Given the description of an element on the screen output the (x, y) to click on. 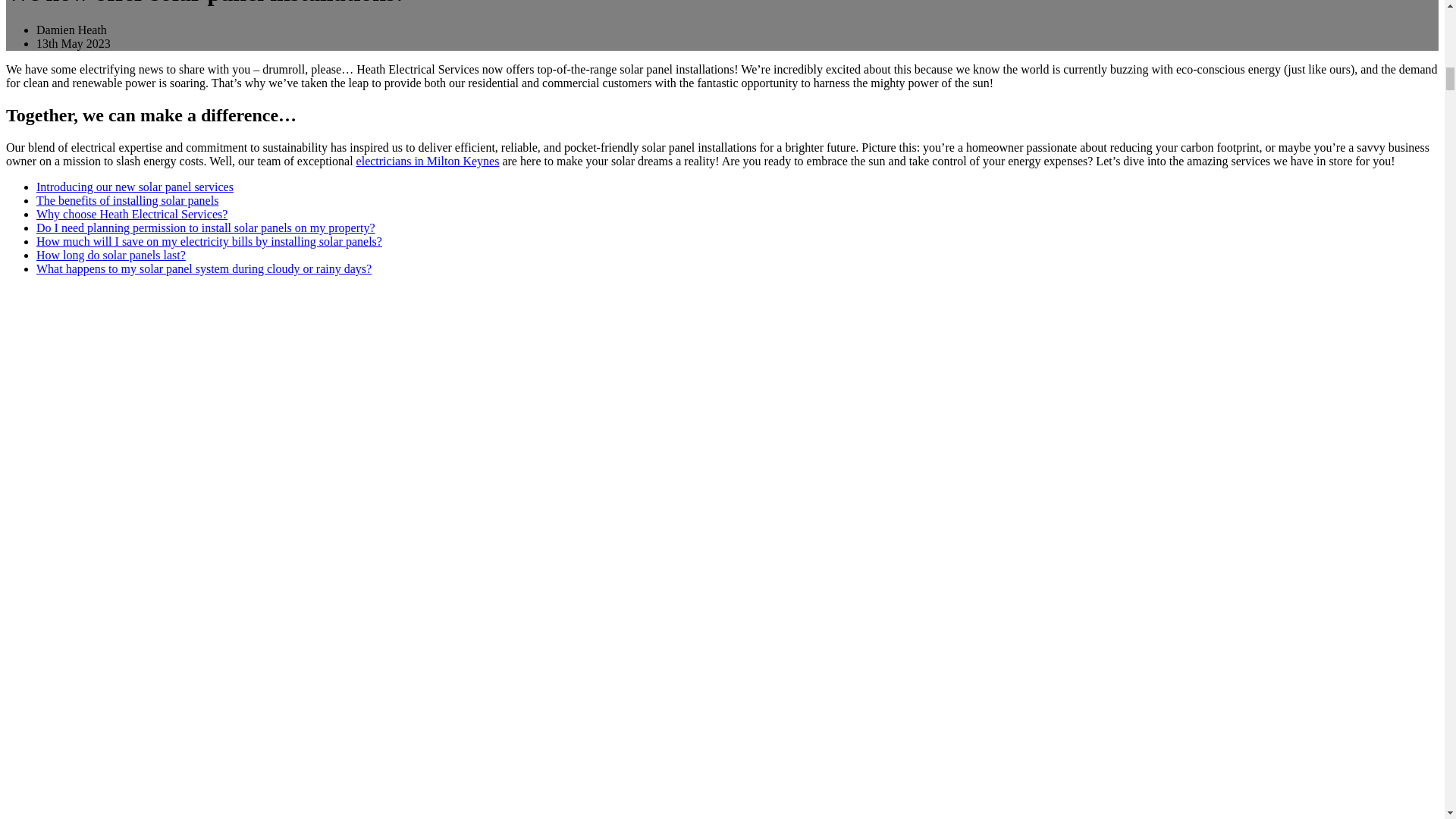
electricians in Milton Keynes (427, 160)
Introducing Heath Electrical's New Solar Panel Services (134, 186)
Why Choose Heath Electrical Services? (131, 214)
The Benefits of Installing Solar Panels (127, 200)
How long do solar panels last? (111, 254)
